Given the description of an element on the screen output the (x, y) to click on. 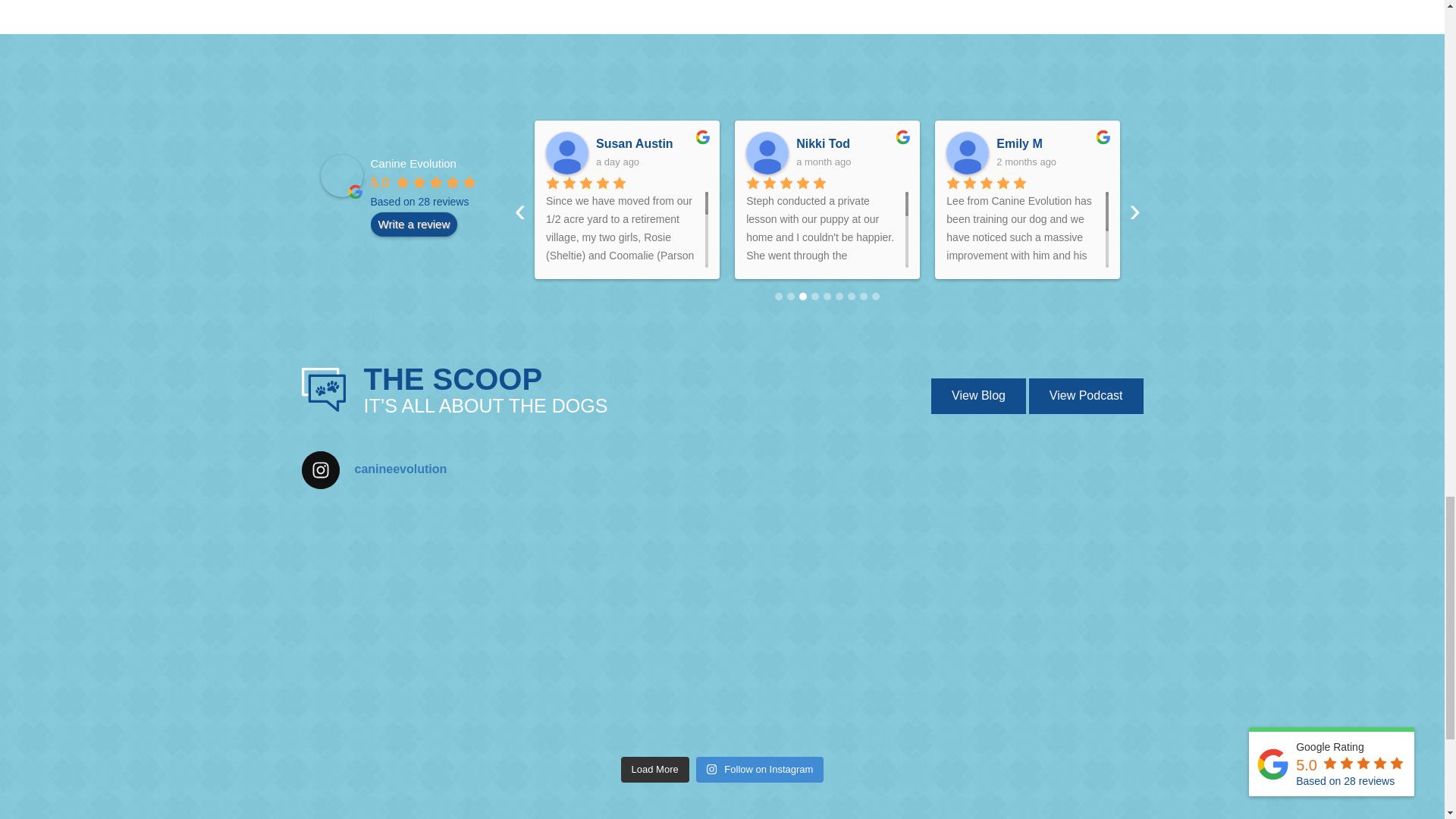
Emily M (967, 152)
Emily M (1051, 144)
Nikki Tod (852, 144)
Canine Evolution (341, 175)
Susan Austin (567, 152)
Susan Austin (651, 144)
Nikki Tod (767, 152)
